Given the description of an element on the screen output the (x, y) to click on. 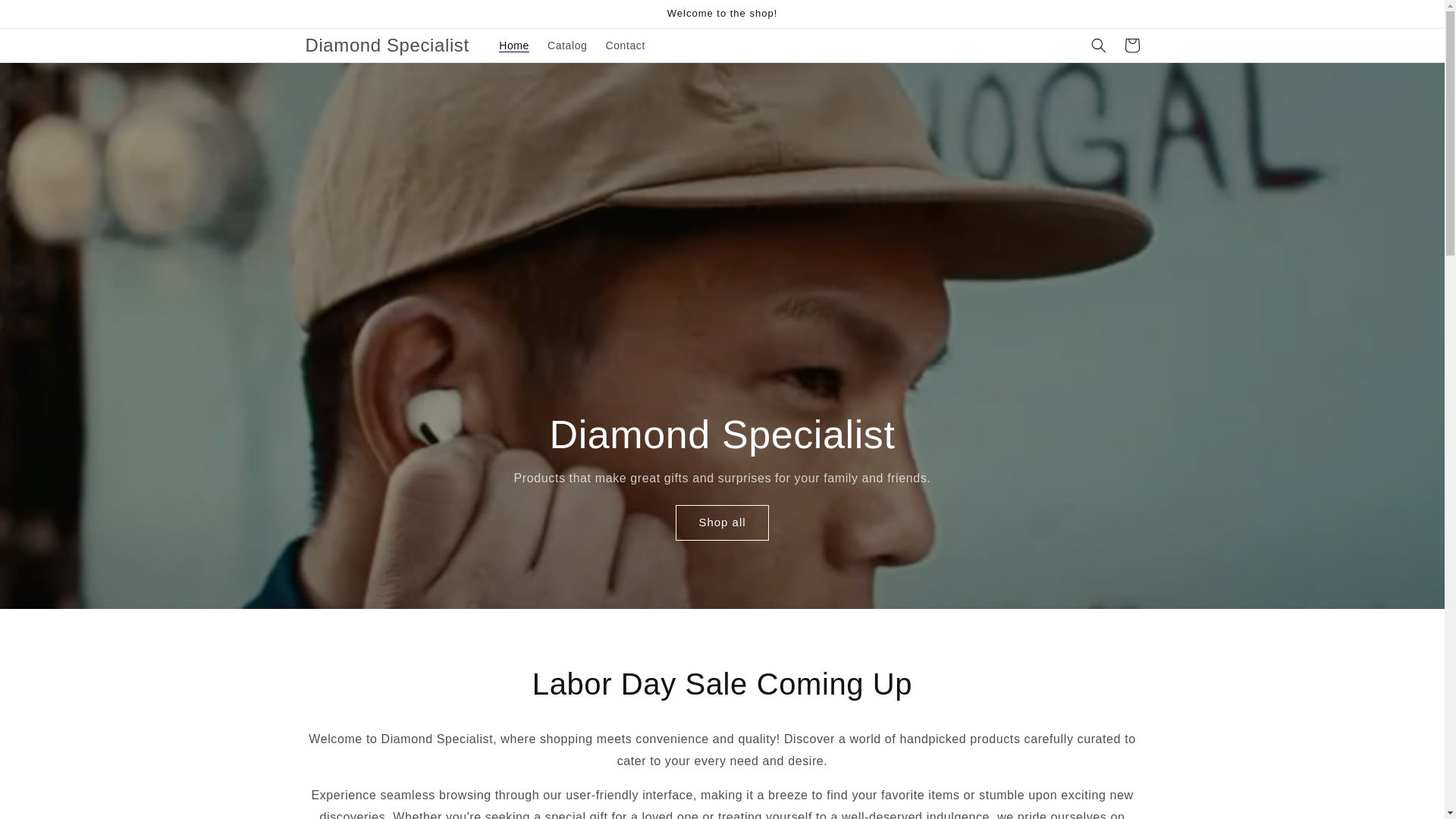
Catalog (566, 45)
Diamond Specialist (386, 44)
Shop all (721, 522)
Home (513, 45)
Cart (1131, 45)
Skip to content (45, 17)
Contact (624, 45)
